Given the description of an element on the screen output the (x, y) to click on. 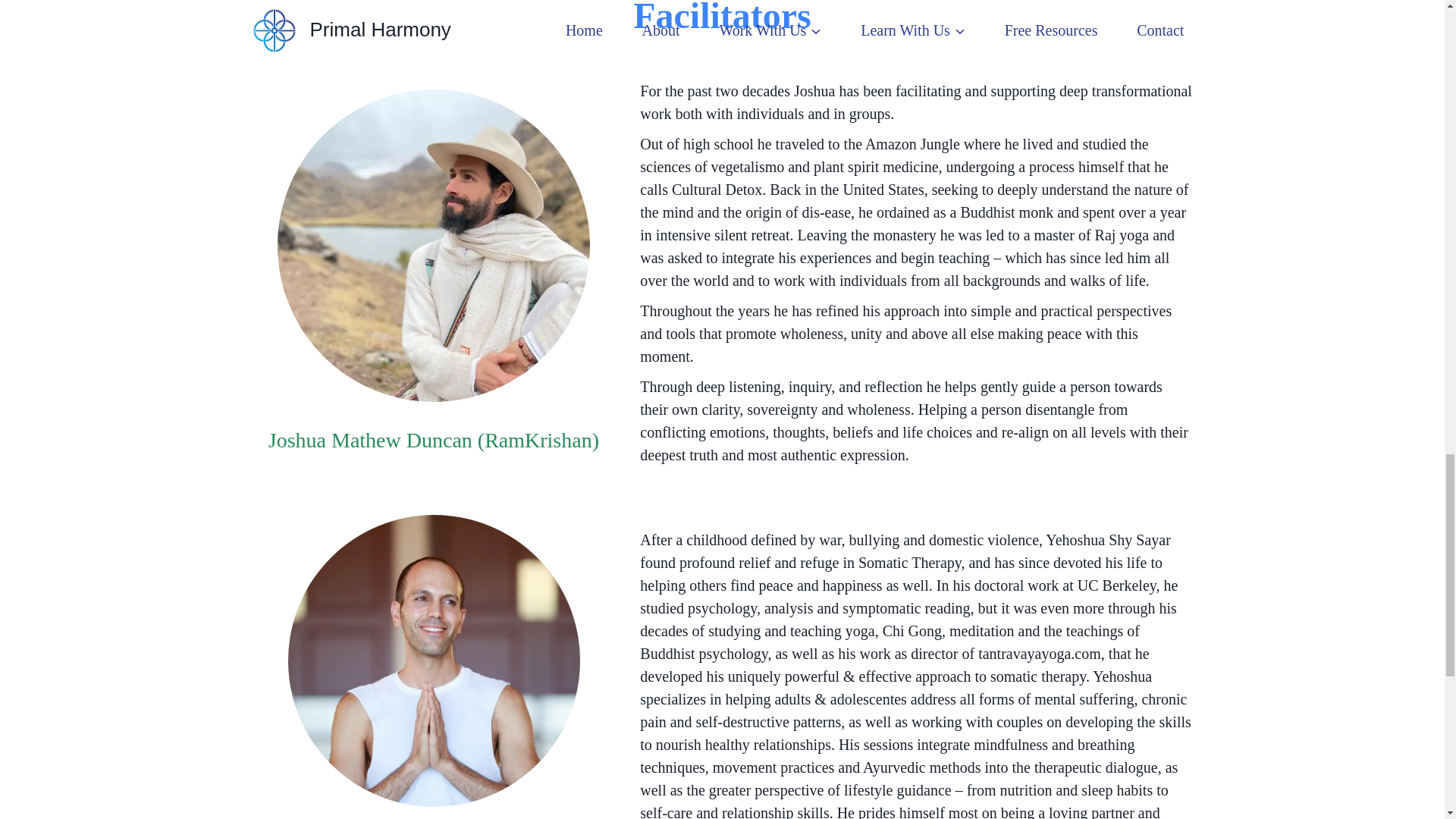
tantravayayoga.com (1039, 653)
